Given the description of an element on the screen output the (x, y) to click on. 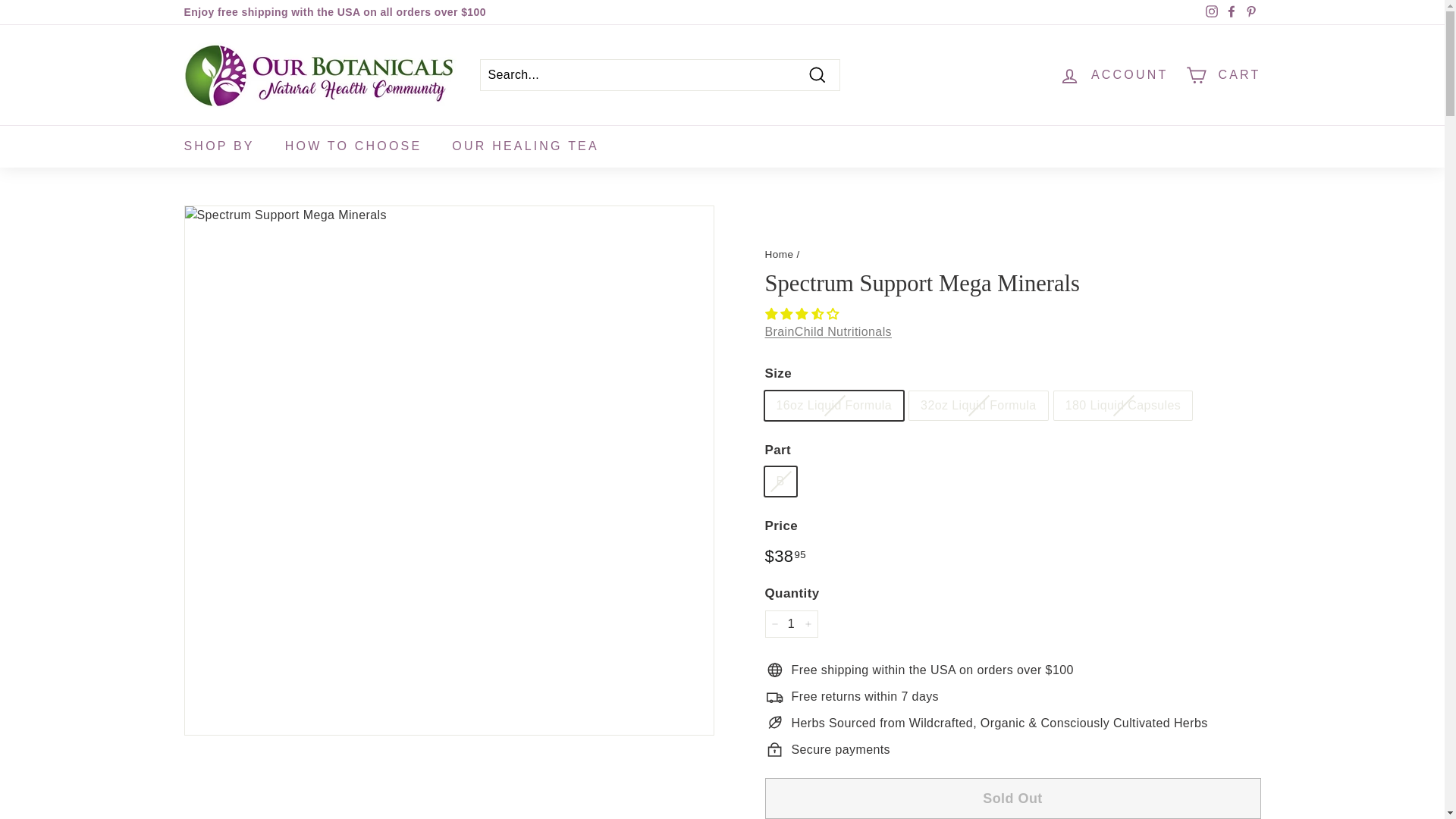
SHOP BY (218, 146)
ACCOUNT (1113, 75)
Back to the frontpage (778, 254)
1 (790, 624)
